Given the description of an element on the screen output the (x, y) to click on. 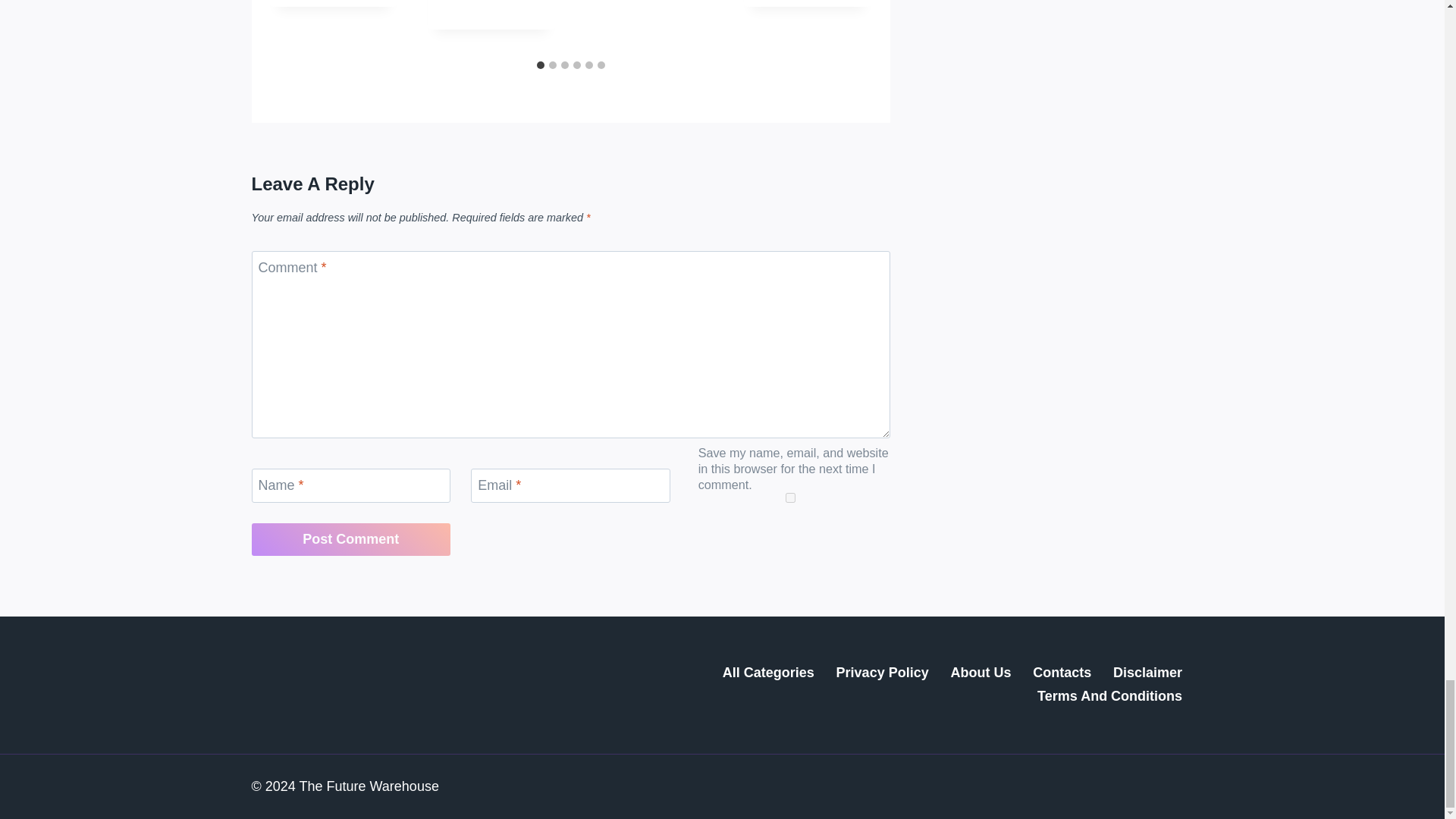
Post Comment (351, 539)
yes (789, 497)
